Given the description of an element on the screen output the (x, y) to click on. 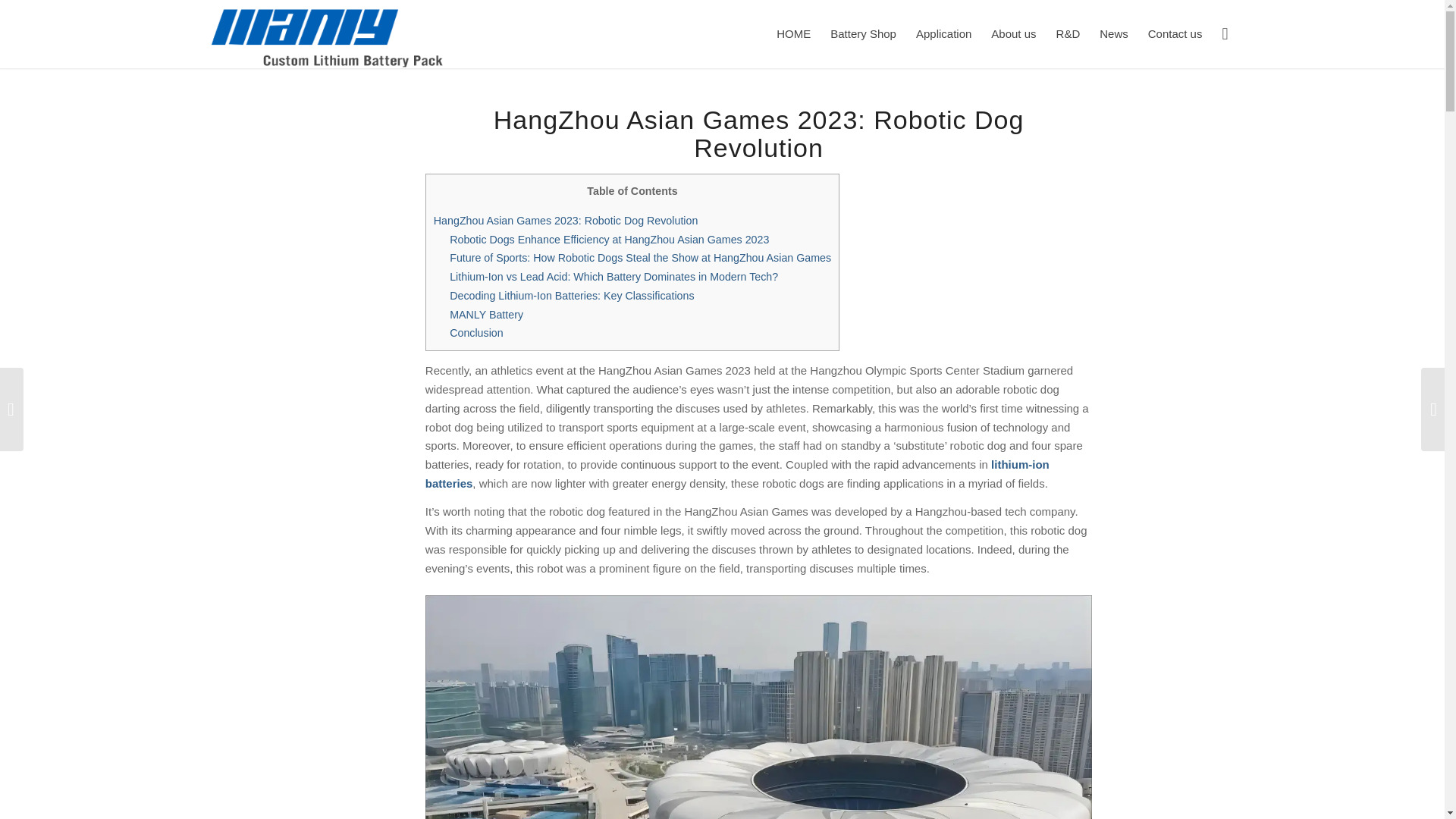
Battery Shop (863, 33)
